Given the description of an element on the screen output the (x, y) to click on. 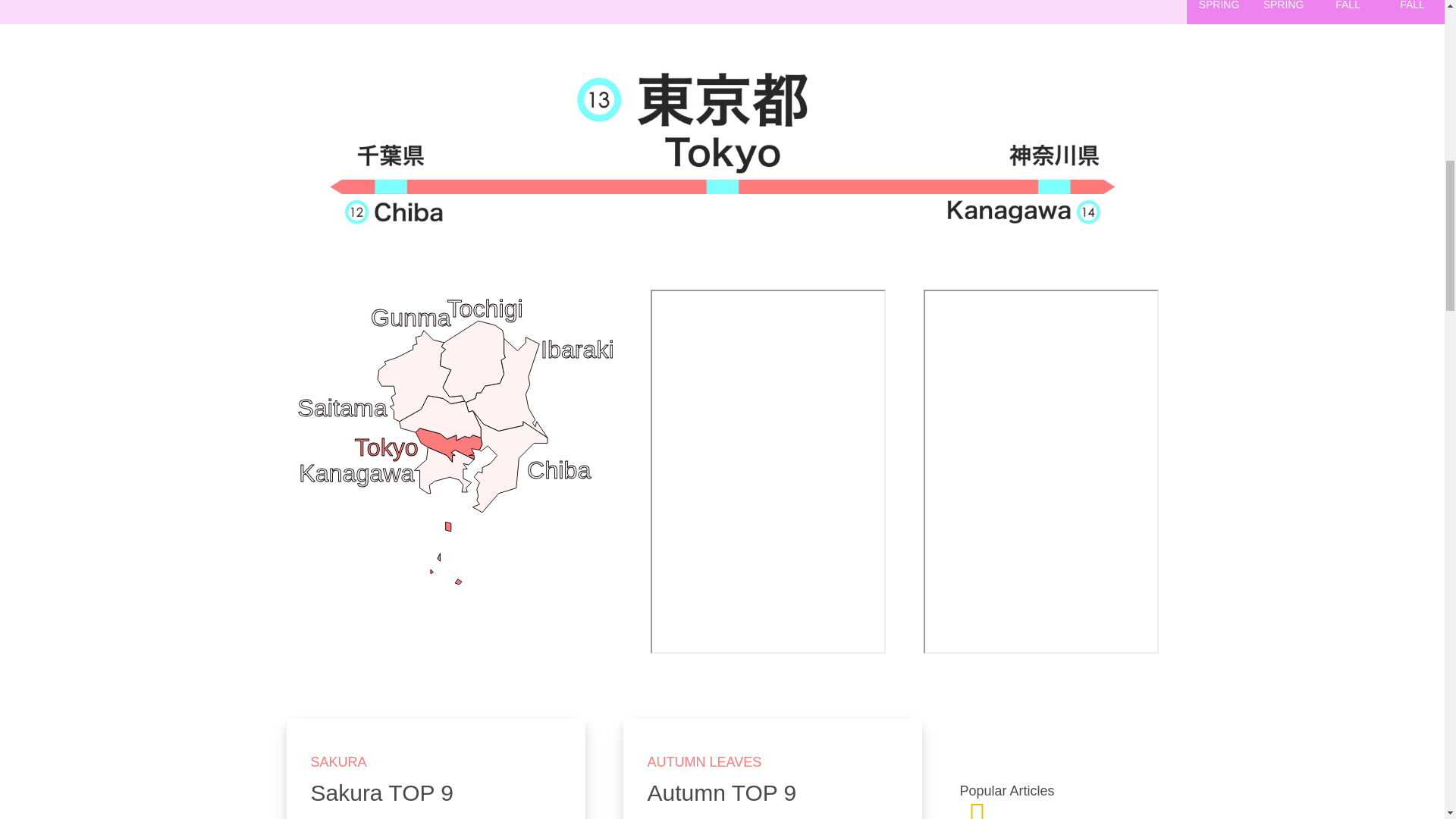
FALL (1348, 12)
SPRING (1283, 12)
SPRING (1218, 12)
